Given the description of an element on the screen output the (x, y) to click on. 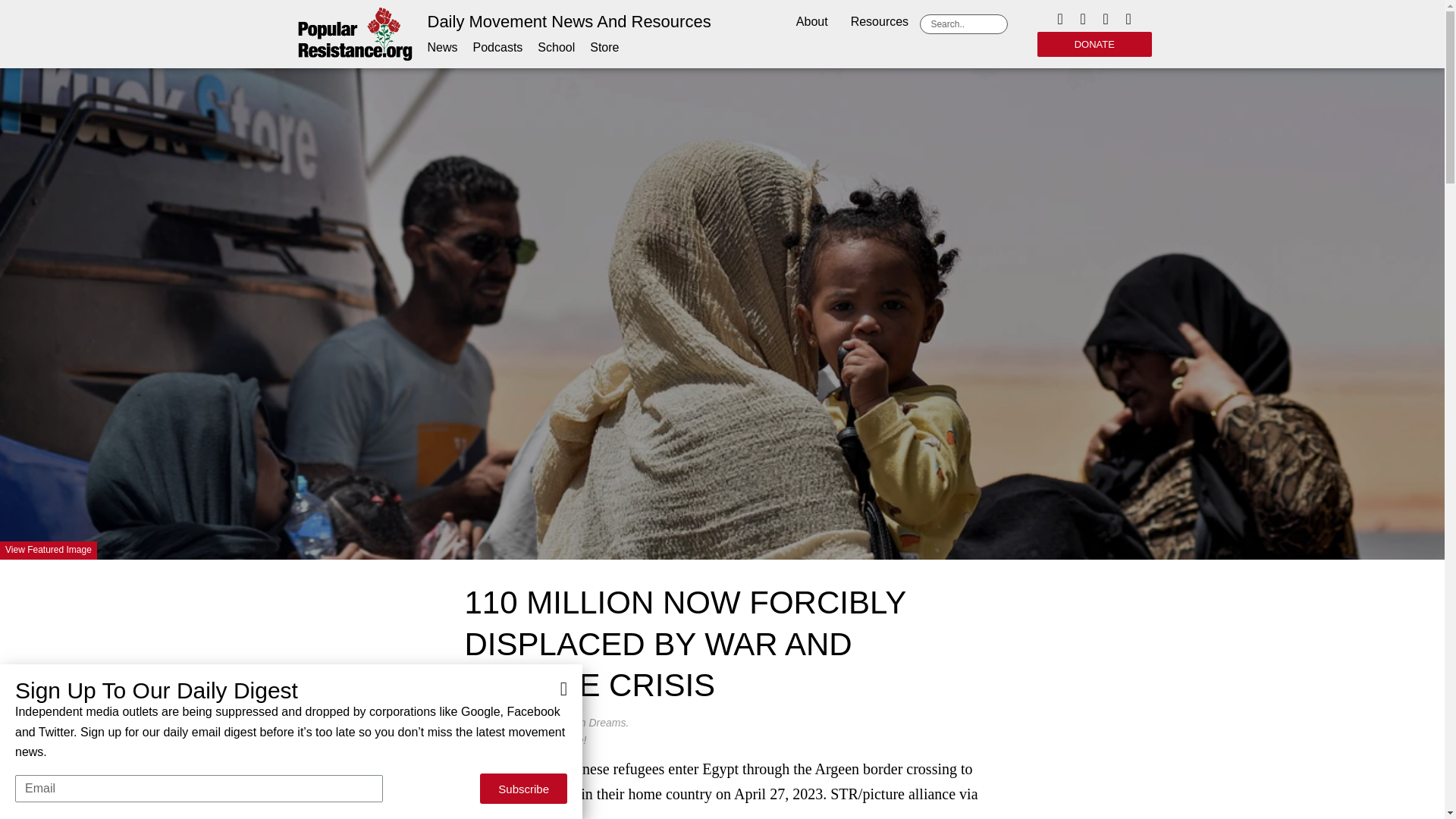
Store (603, 47)
School (556, 47)
News (443, 47)
Search (966, 24)
About (812, 22)
Podcasts (497, 47)
Resources (880, 22)
